Given the description of an element on the screen output the (x, y) to click on. 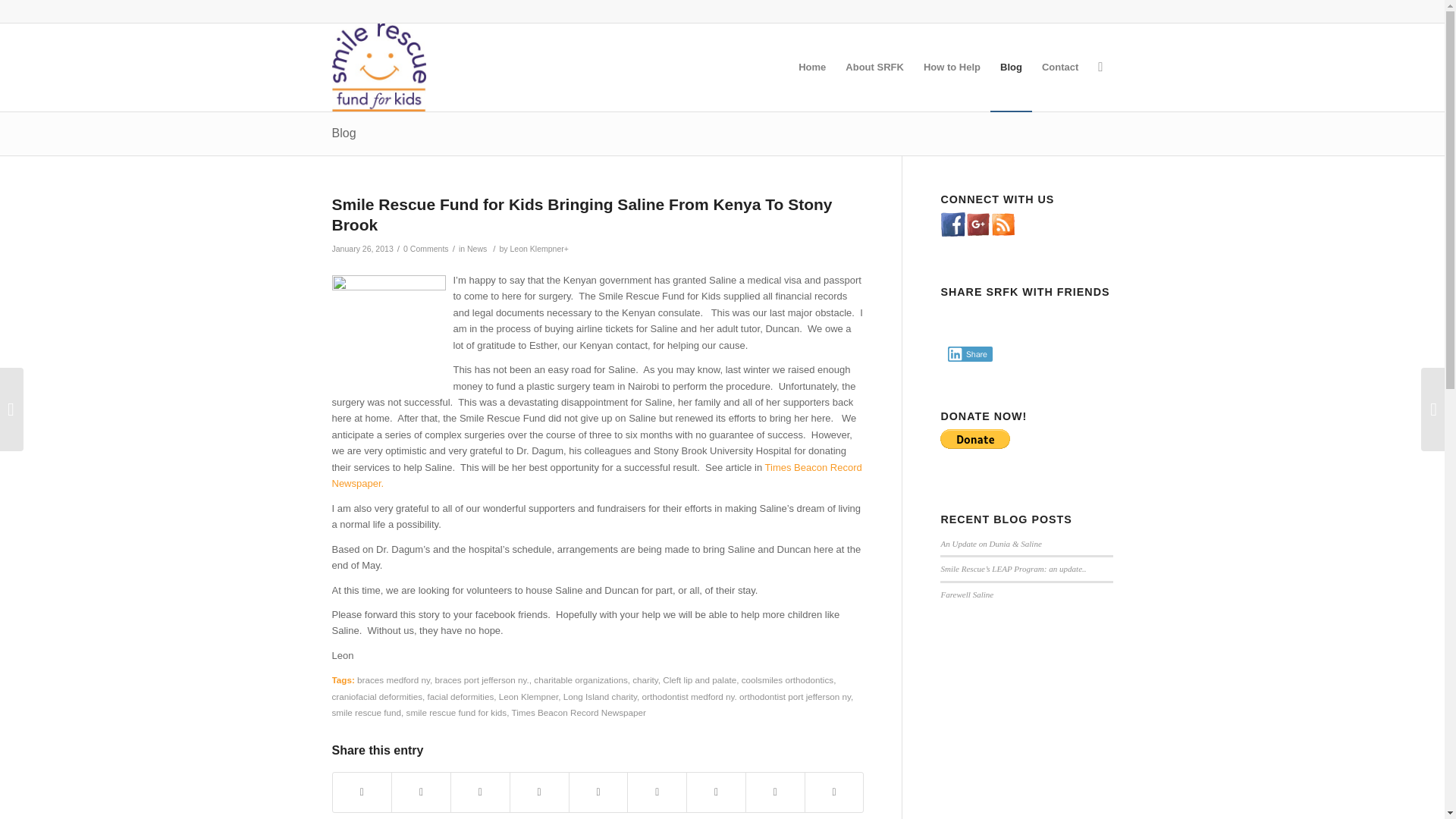
Times Beacon Record Newspaper (578, 712)
orthodontist medford ny. orthodontist port jefferson ny (746, 696)
Posts by Leon Klempner (536, 248)
Leon Klempner (529, 696)
coolsmiles orthodontics (786, 679)
charitable organizations (580, 679)
braces port jefferson ny. (482, 679)
Home (812, 67)
Contact (1059, 67)
smile rescue fund for kids (456, 712)
braces medford ny (392, 679)
Blog (343, 132)
thumbsup (388, 332)
craniofacial deformities (377, 696)
